Given the description of an element on the screen output the (x, y) to click on. 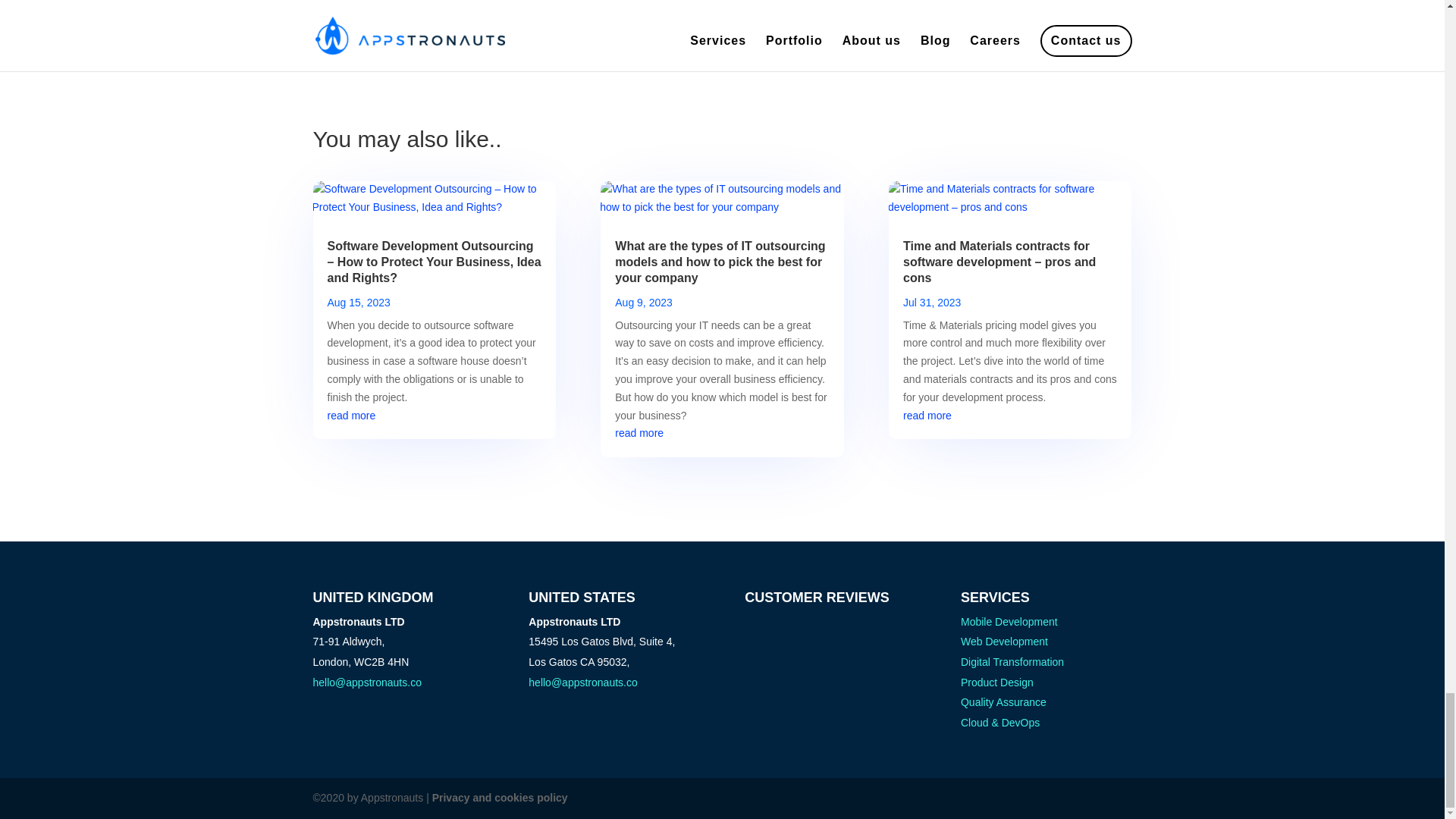
read more (638, 432)
read more (351, 415)
